Given the description of an element on the screen output the (x, y) to click on. 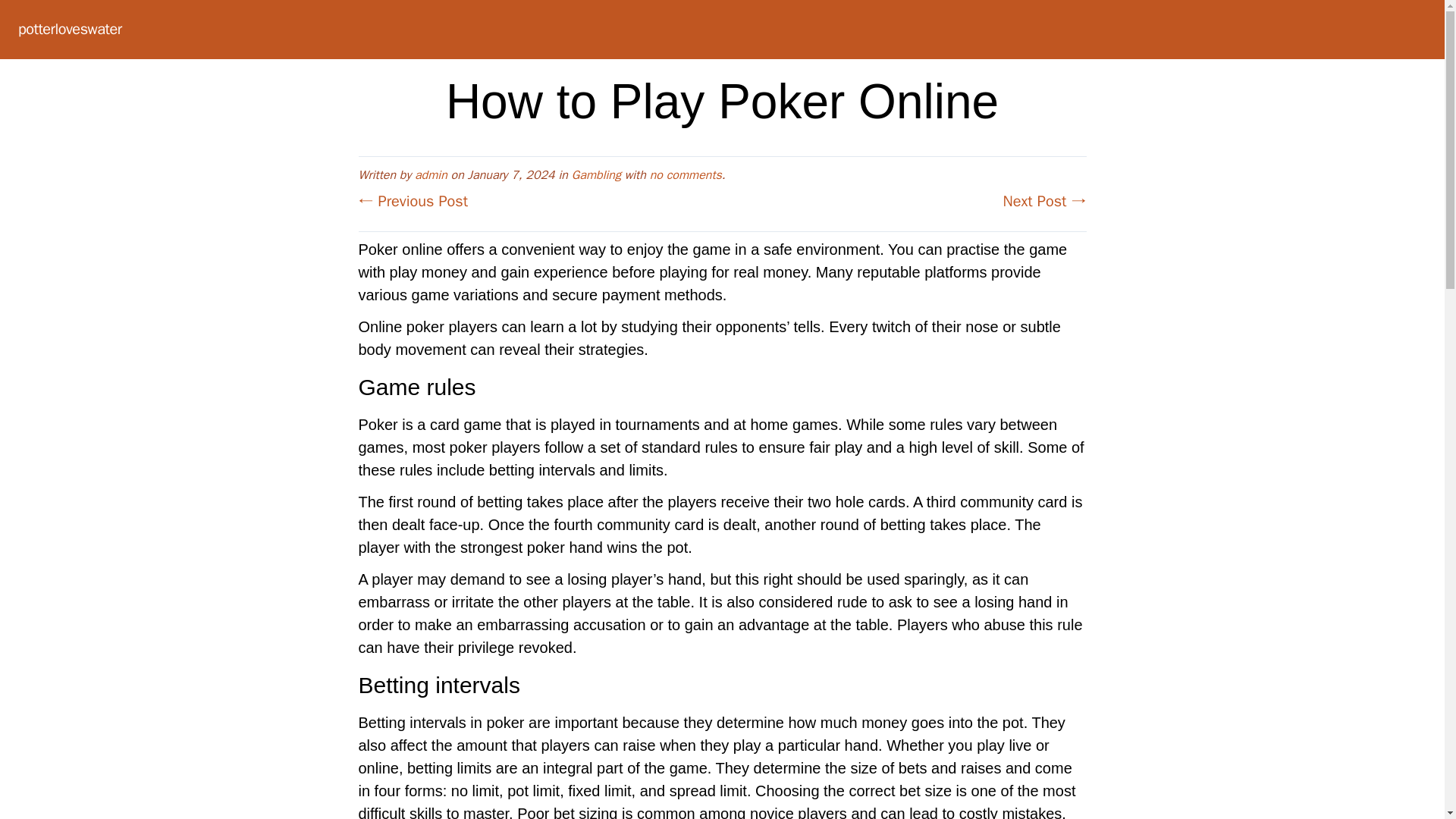
potterloveswater (69, 29)
Gambling (596, 174)
admin (430, 174)
no comments (685, 174)
no comments (685, 174)
